Given the description of an element on the screen output the (x, y) to click on. 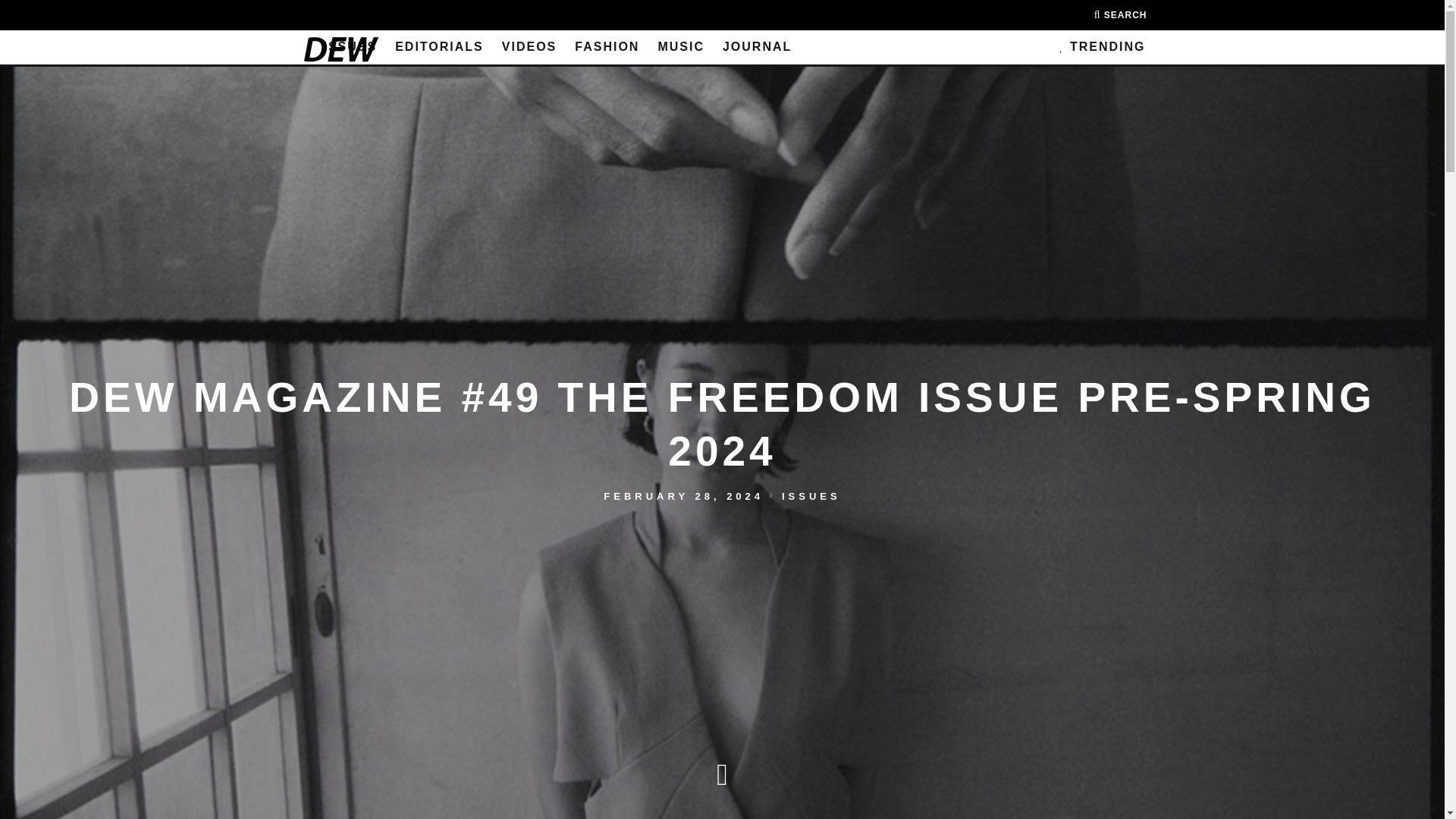
ISSUES (349, 47)
Search (1120, 15)
SEARCH (1120, 15)
EDITORIALS (439, 47)
FASHION (606, 47)
Log In (721, 435)
View all posts in Issues (811, 495)
VIDEOS (529, 47)
